Given the description of an element on the screen output the (x, y) to click on. 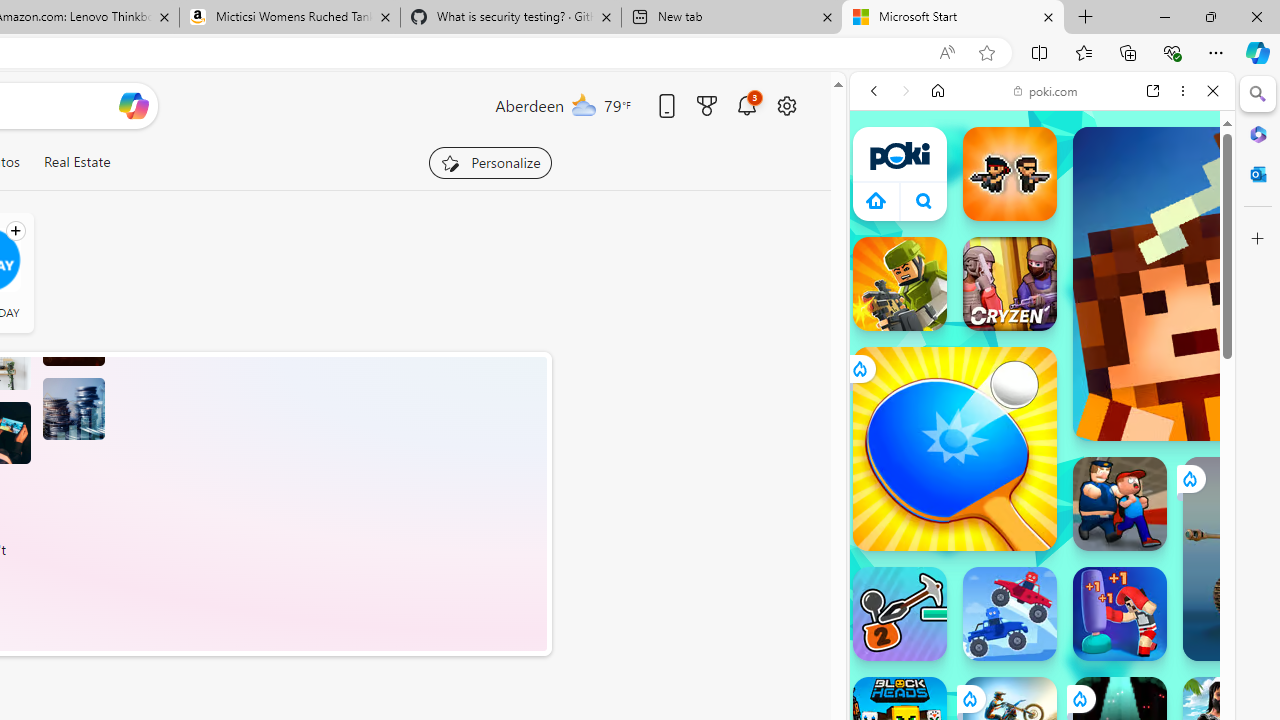
Escape From School (1119, 503)
Personalize your feed" (489, 162)
Stickman Climb 2 Stickman Climb 2 (899, 613)
Kour.io Kour.io (899, 283)
SEARCH TOOLS (1093, 228)
Show More Two Player Games (1164, 570)
WEB   (882, 228)
Zombie Rush Zombie Rush (1009, 173)
